Given the description of an element on the screen output the (x, y) to click on. 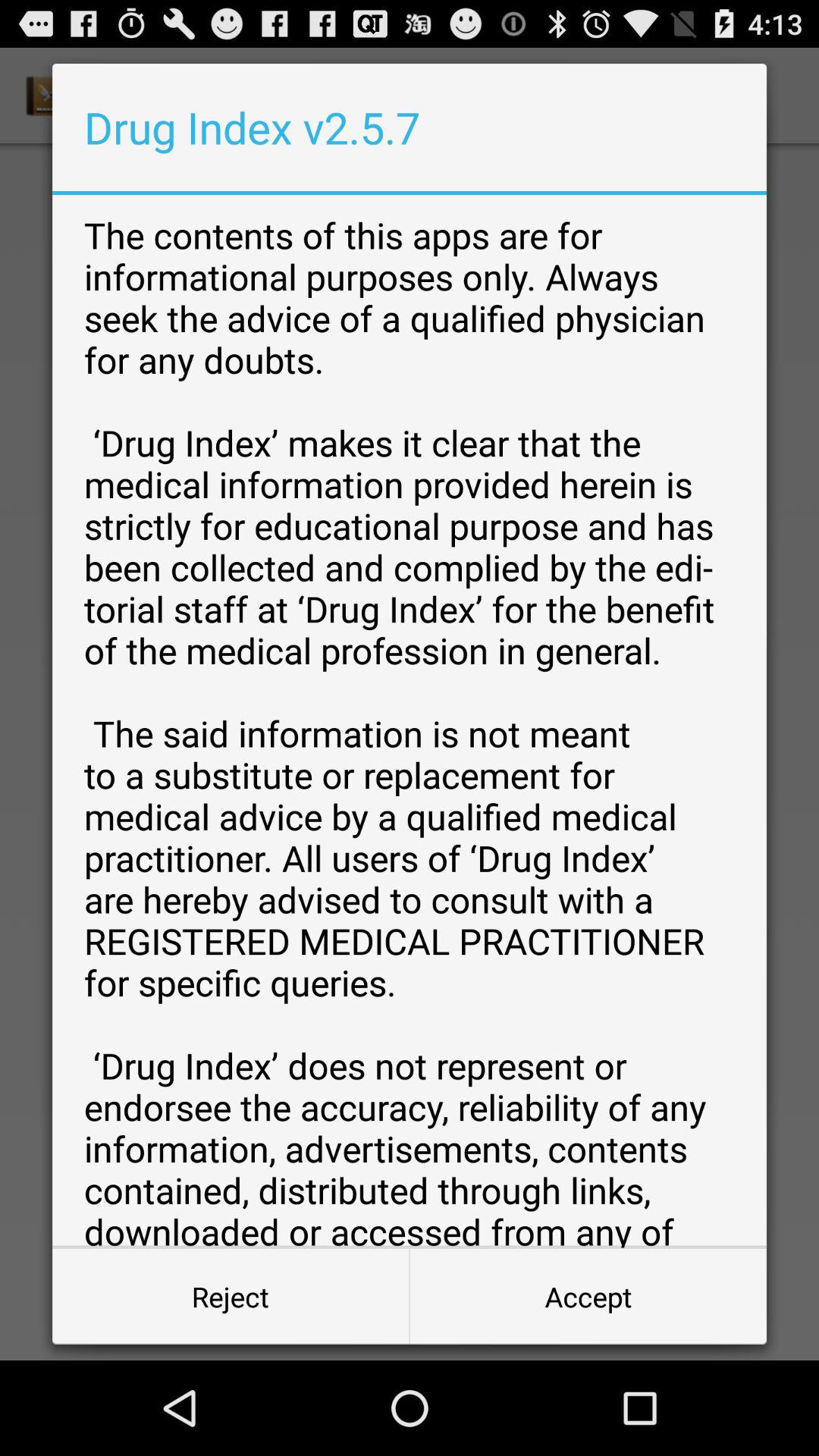
tap the reject (230, 1296)
